Given the description of an element on the screen output the (x, y) to click on. 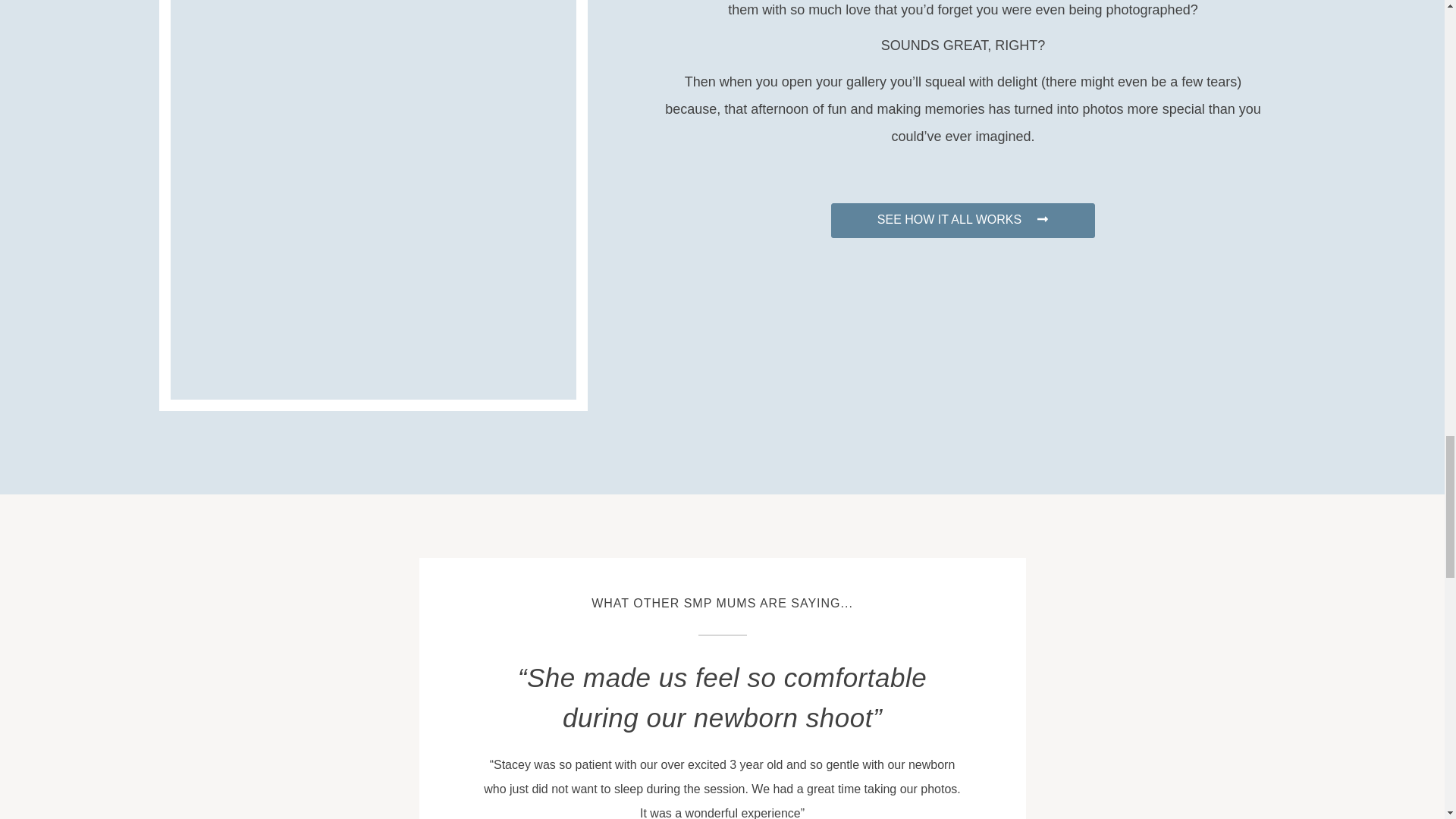
SEE HOW IT ALL WORKS (962, 220)
